Given the description of an element on the screen output the (x, y) to click on. 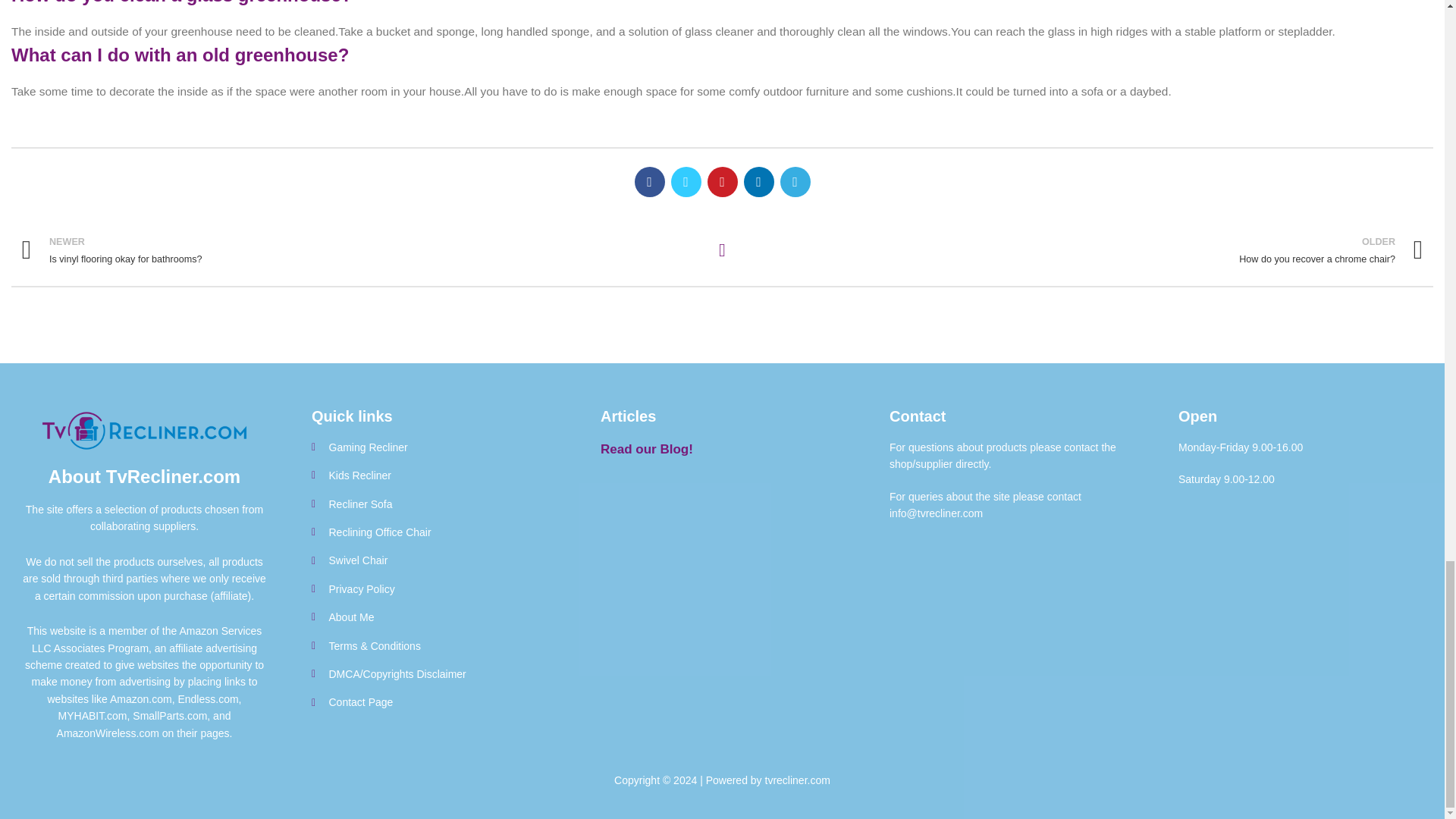
Gaming Recliner (432, 446)
Privacy Policy (361, 250)
Back to list (432, 588)
About Me (722, 250)
Reclining Office Chair (432, 617)
Kids Recliner (432, 532)
Recliner Sofa (432, 475)
Swivel Chair (1082, 250)
